Given the description of an element on the screen output the (x, y) to click on. 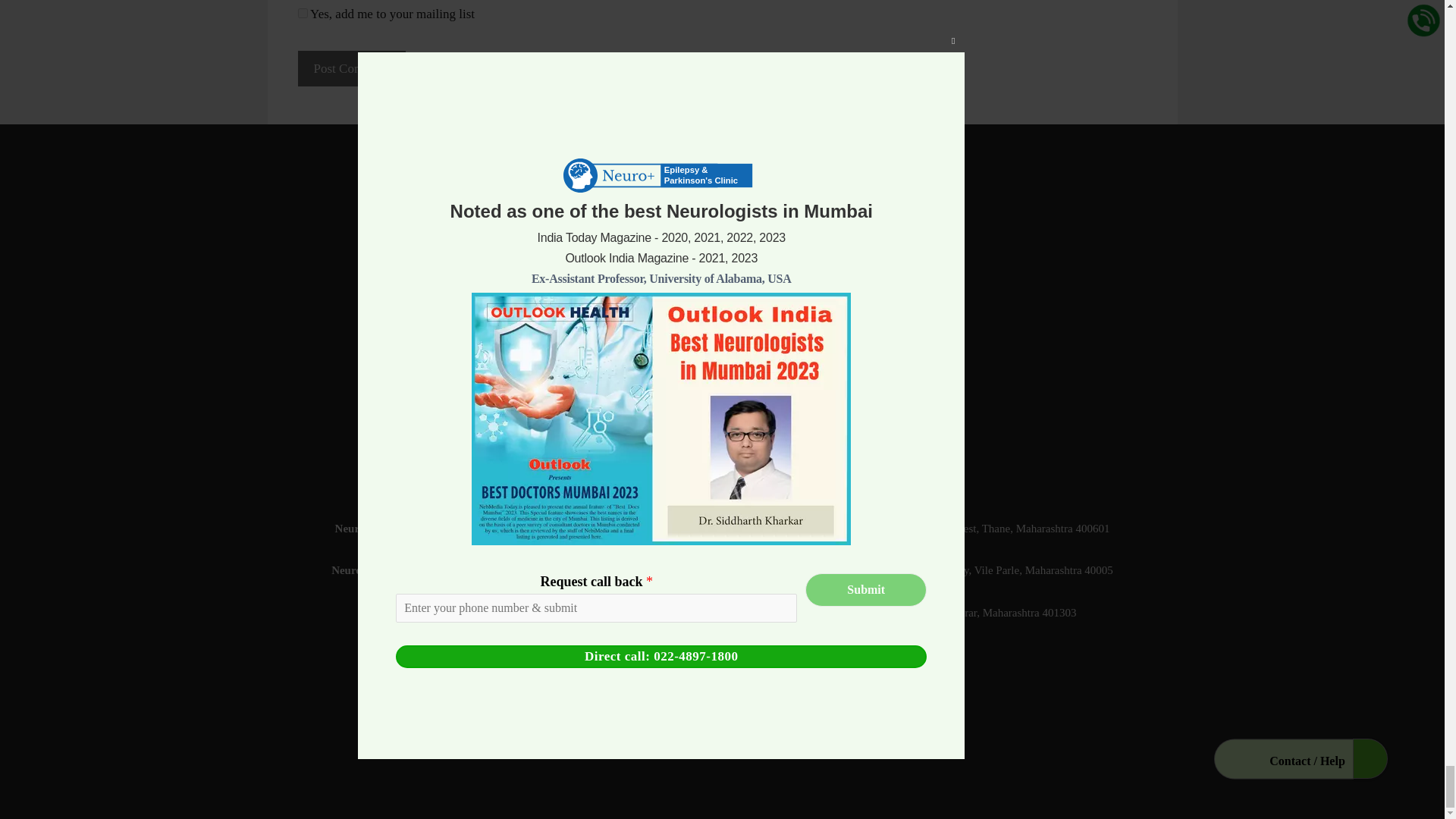
Post Comment (351, 68)
1 (302, 13)
